Given the description of an element on the screen output the (x, y) to click on. 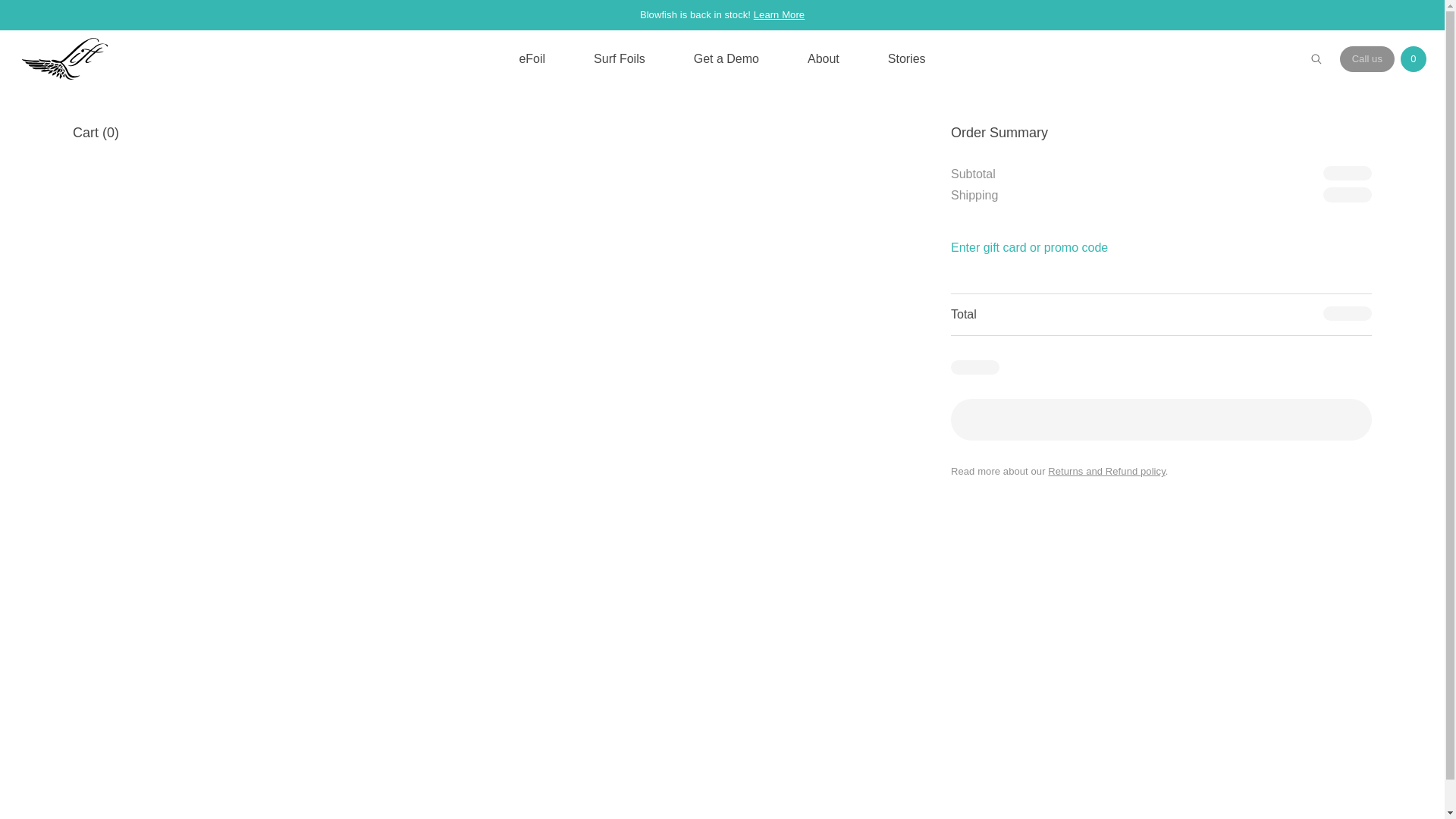
eFoil (531, 58)
Learn More (779, 14)
Surf Foils (619, 58)
About (822, 58)
Stories (906, 58)
Get a Demo (726, 58)
